Given the description of an element on the screen output the (x, y) to click on. 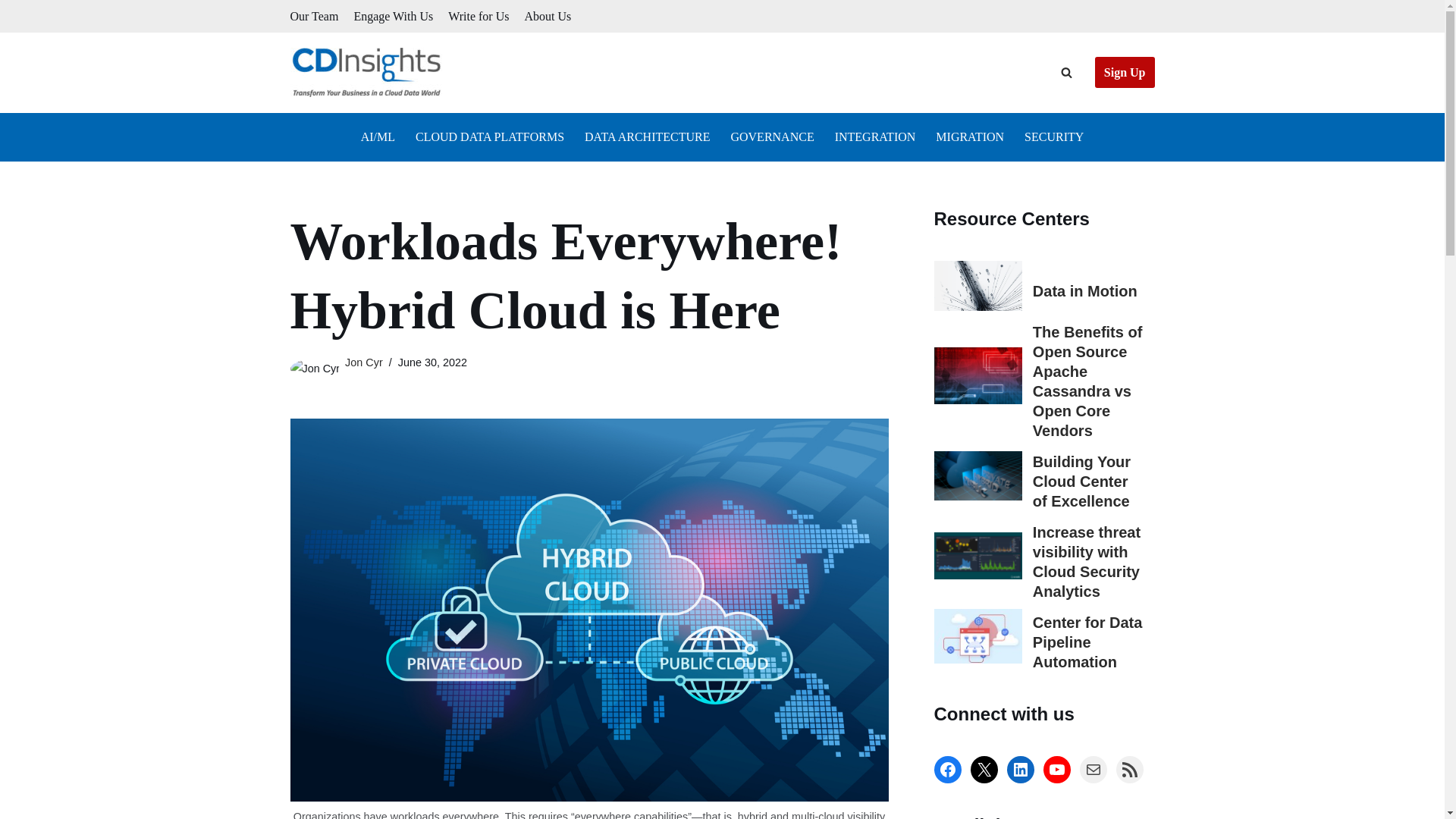
About Us (547, 15)
GOVERNANCE (771, 136)
Our Team (313, 15)
Sign Up (1124, 72)
CLOUD DATA PLATFORMS (489, 136)
Jon Cyr (363, 362)
Posts by Jon Cyr (363, 362)
Write for Us (478, 15)
Engage With Us (392, 15)
INTEGRATION (874, 136)
Skip to content (11, 31)
MIGRATION (970, 136)
DATA ARCHITECTURE (647, 136)
SECURITY (1054, 136)
